Given the description of an element on the screen output the (x, y) to click on. 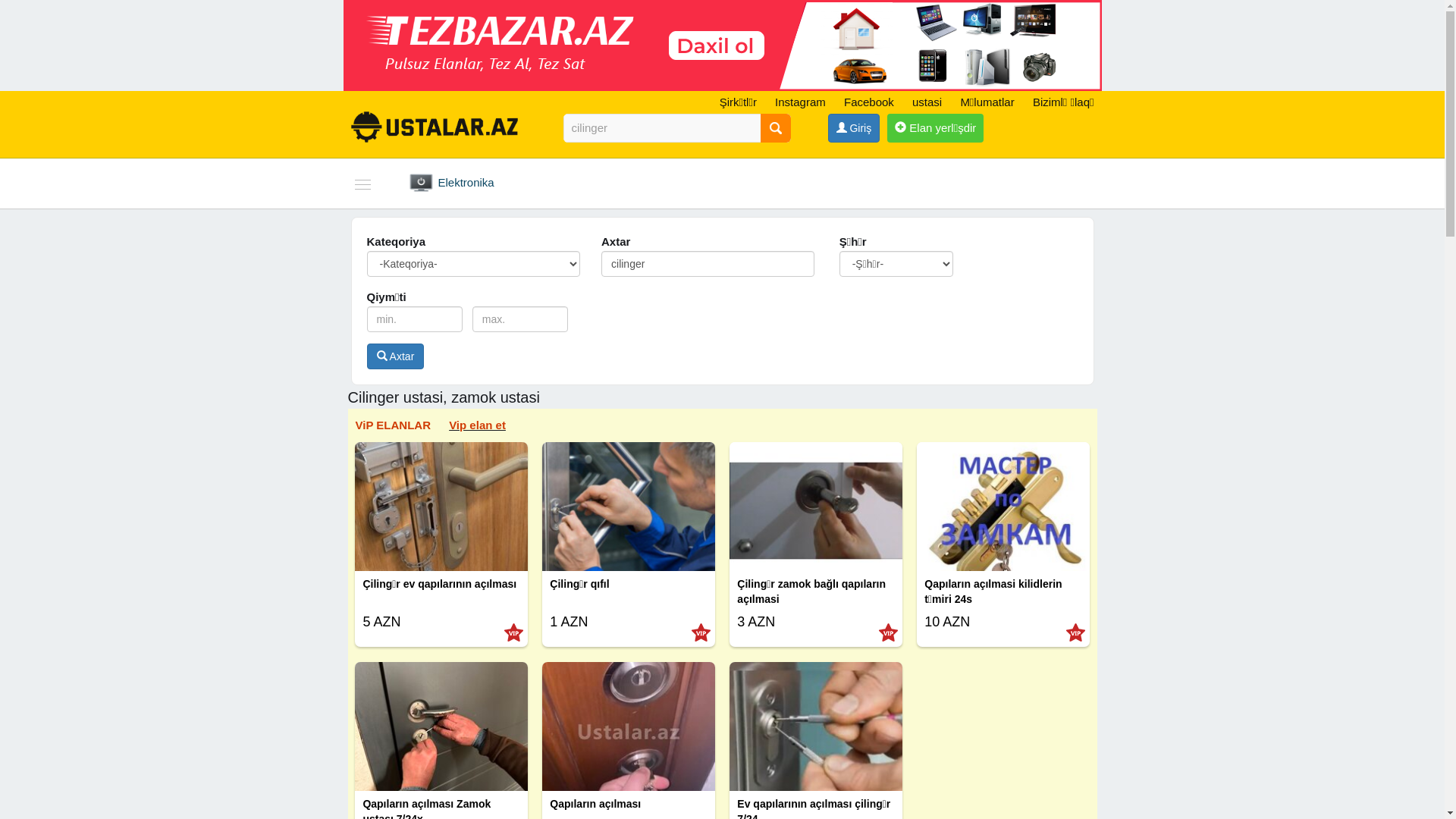
Instagram Element type: text (800, 101)
Facebook Element type: text (869, 101)
  Element type: text (774, 127)
Elanlar sayti, Pulsuz Elanlar alqi satqi sayti Element type: hover (721, 45)
ViP ELANLAR Element type: text (391, 424)
ustasi Element type: text (926, 101)
min. Element type: hover (415, 319)
Axtar Element type: text (395, 356)
Vip elan et Element type: text (476, 424)
max. Element type: hover (520, 319)
Elektronika Element type: text (471, 183)
